Given the description of an element on the screen output the (x, y) to click on. 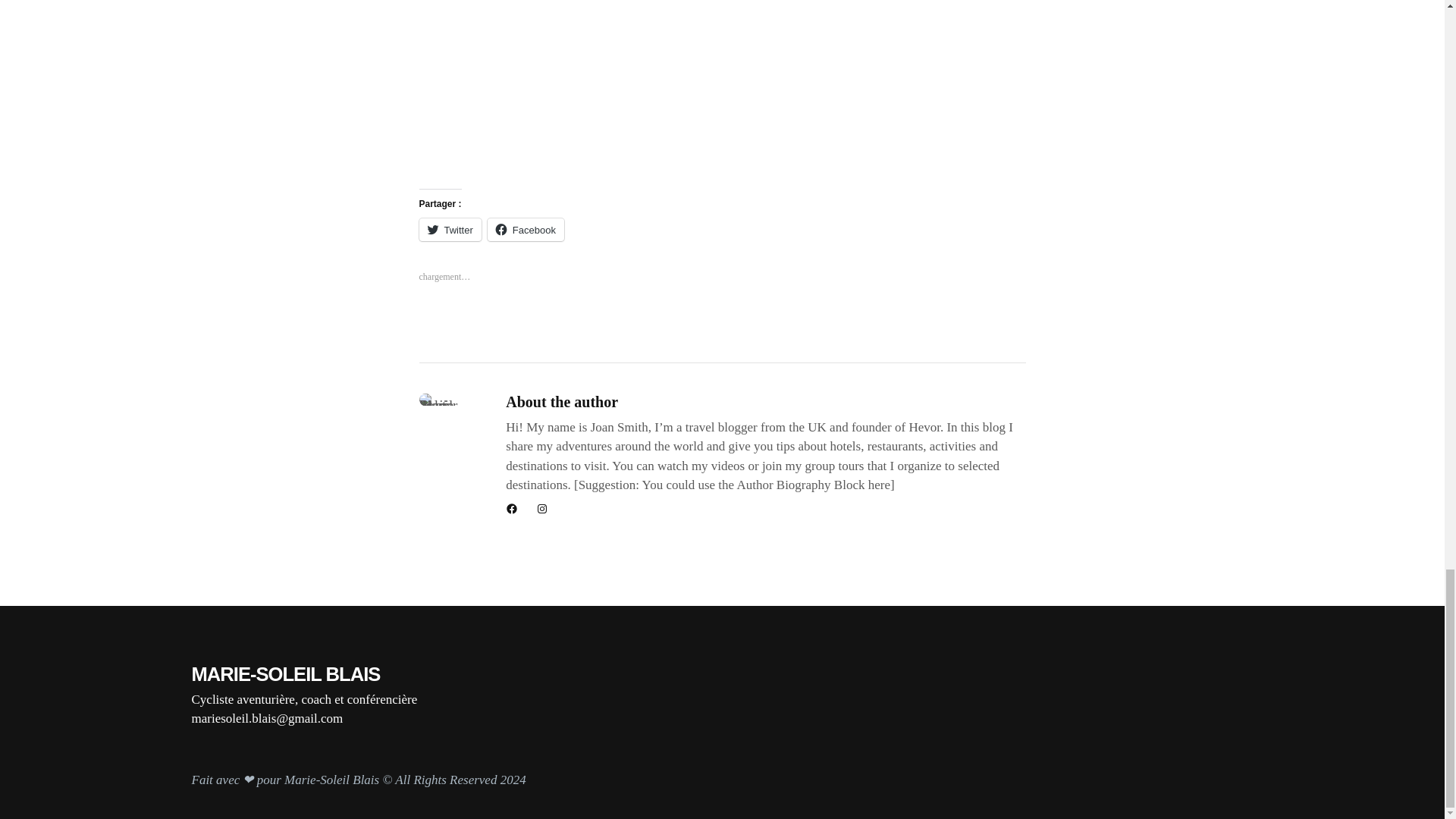
Cliquez pour partager sur Twitter (449, 229)
Cliquez pour partager sur Facebook (525, 229)
Twitter (449, 229)
Facebook (525, 229)
